Given the description of an element on the screen output the (x, y) to click on. 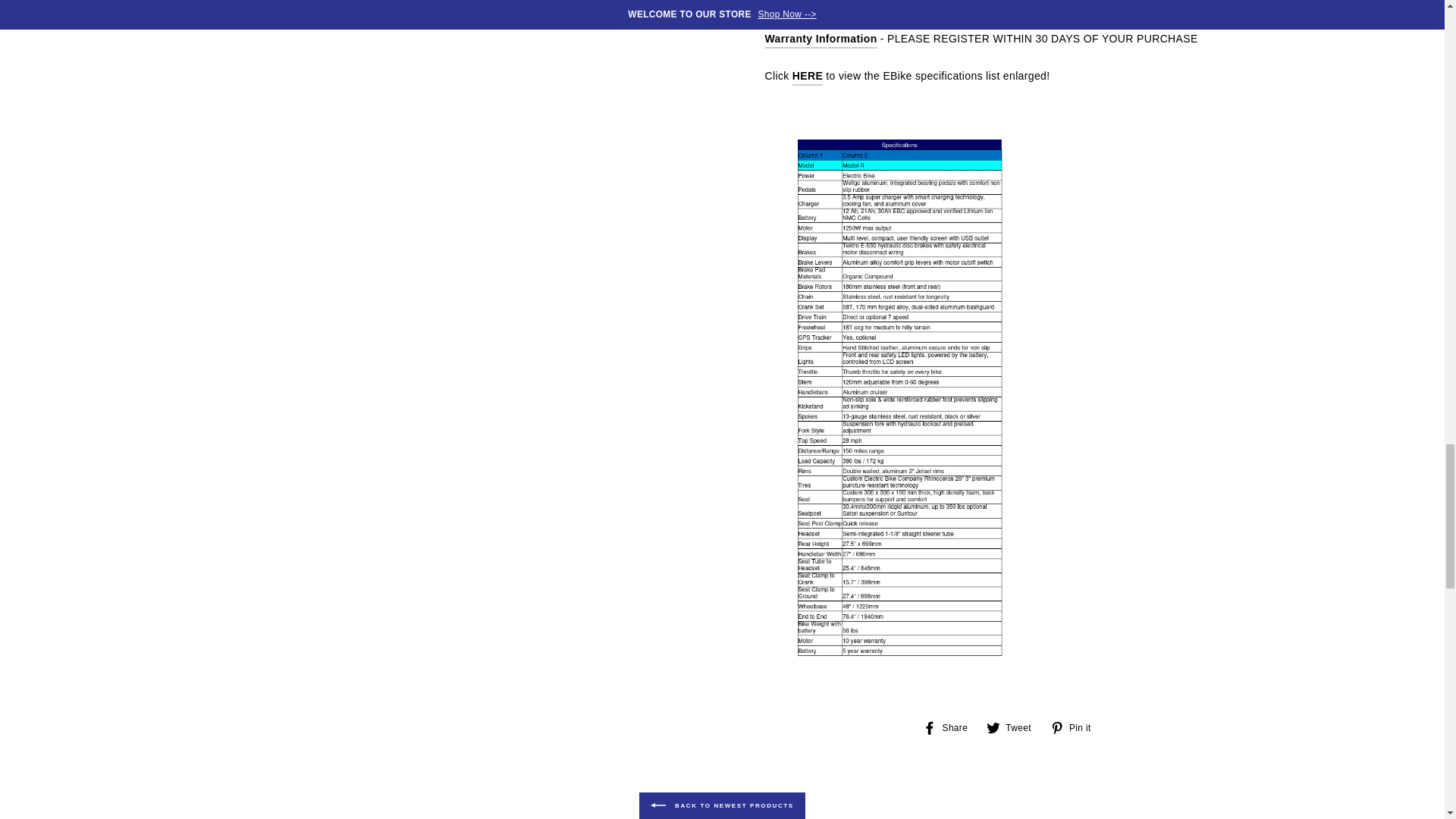
Tweet on Twitter (1014, 726)
Share on Facebook (950, 726)
Electric Bike Company Returns Information (817, 5)
Pin on Pinterest (1075, 726)
Electric Bike Company Warranty Information (820, 39)
